Given the description of an element on the screen output the (x, y) to click on. 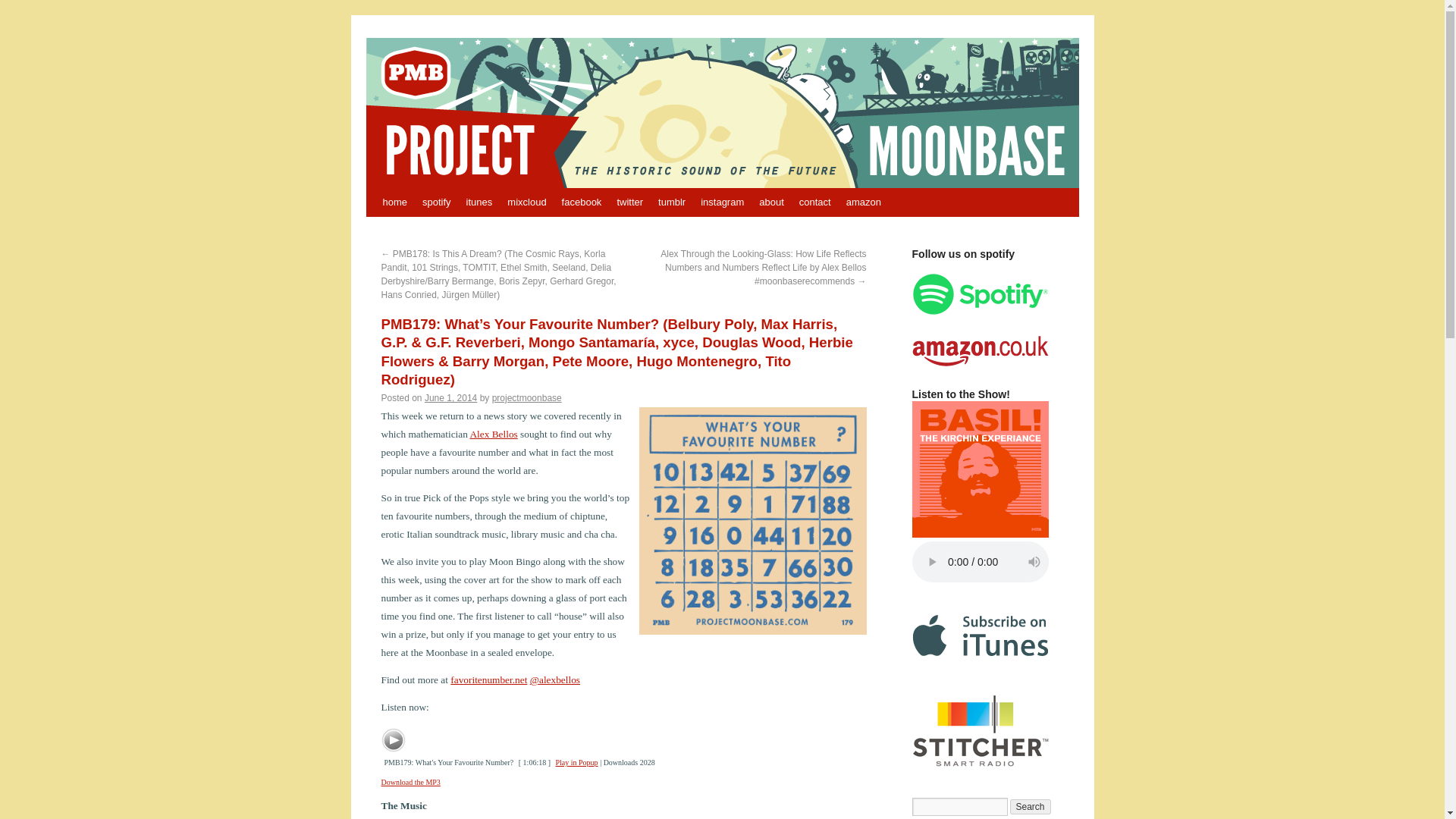
follow projectmoonbase on spotify (979, 311)
favoritenumber.net (488, 679)
instagram (722, 202)
projectmoonbase (527, 398)
itunes (479, 202)
about (771, 202)
amazon (863, 202)
Play in Popup (575, 762)
favoritenumber.net (488, 679)
June 1, 2014 (451, 398)
mixcloud (526, 202)
shop via our Amazon affiliate link (979, 366)
Alex Bellos (492, 433)
12:09 pm (451, 398)
tumblr (671, 202)
